Given the description of an element on the screen output the (x, y) to click on. 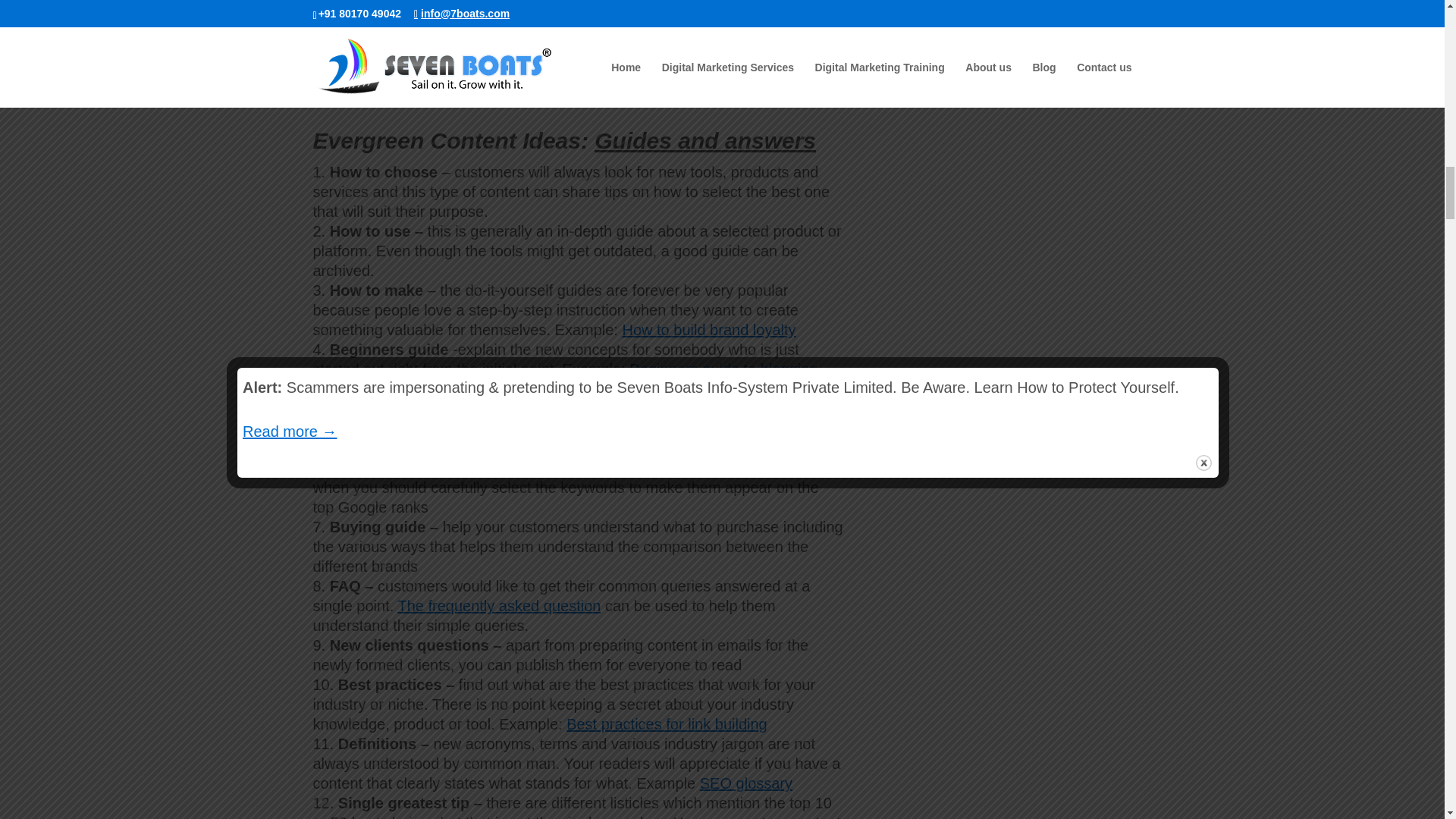
How to build brand loyalty (707, 329)
